Given the description of an element on the screen output the (x, y) to click on. 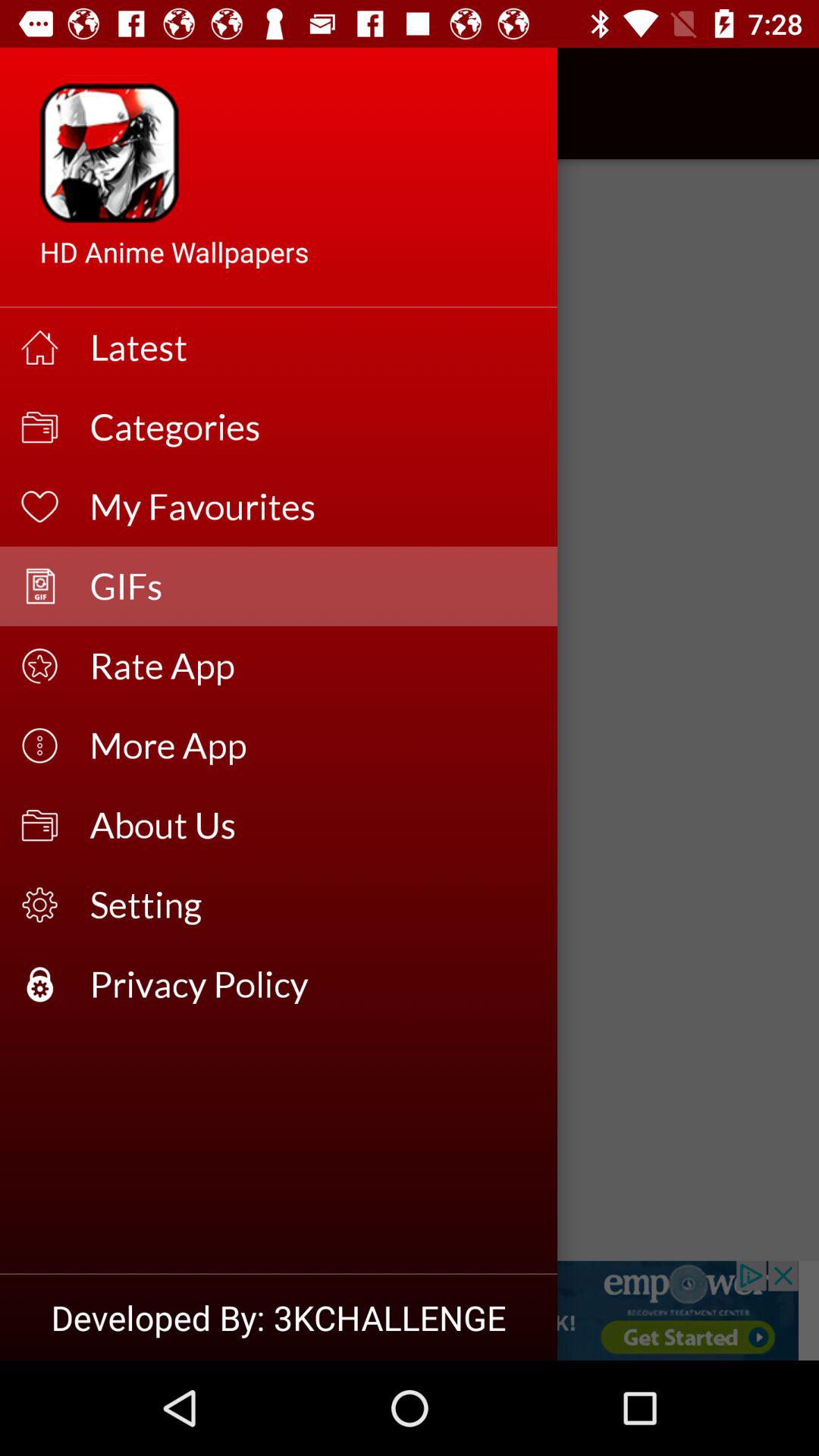
developer information (409, 1310)
